Given the description of an element on the screen output the (x, y) to click on. 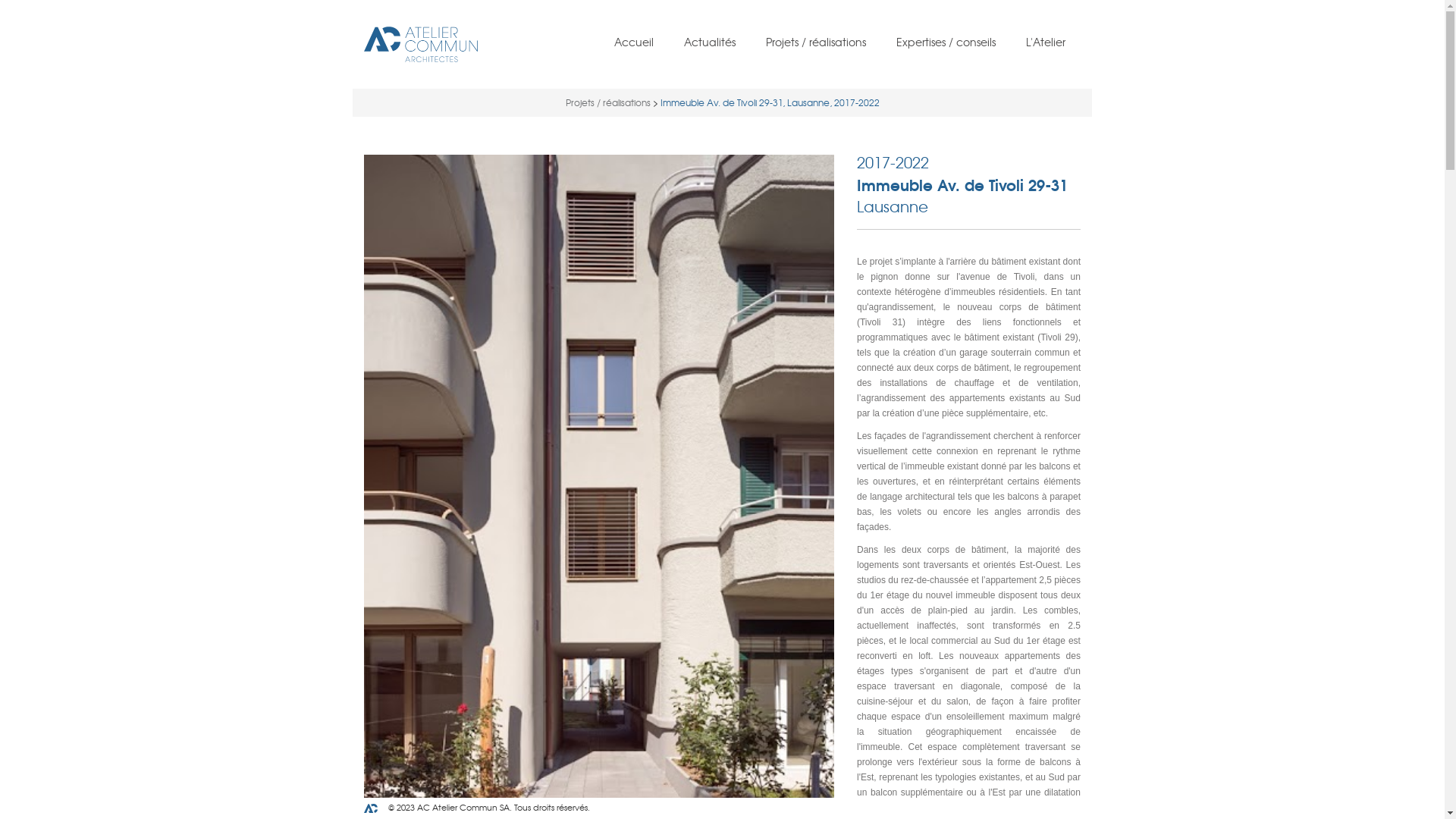
Immeuble Av. de Tivoli 29-31, Lausanne, 2017-2022 Element type: text (768, 102)
Accueil Element type: text (633, 41)
Expertises / conseils Element type: text (945, 41)
L'Atelier Element type: text (1045, 41)
